Given the description of an element on the screen output the (x, y) to click on. 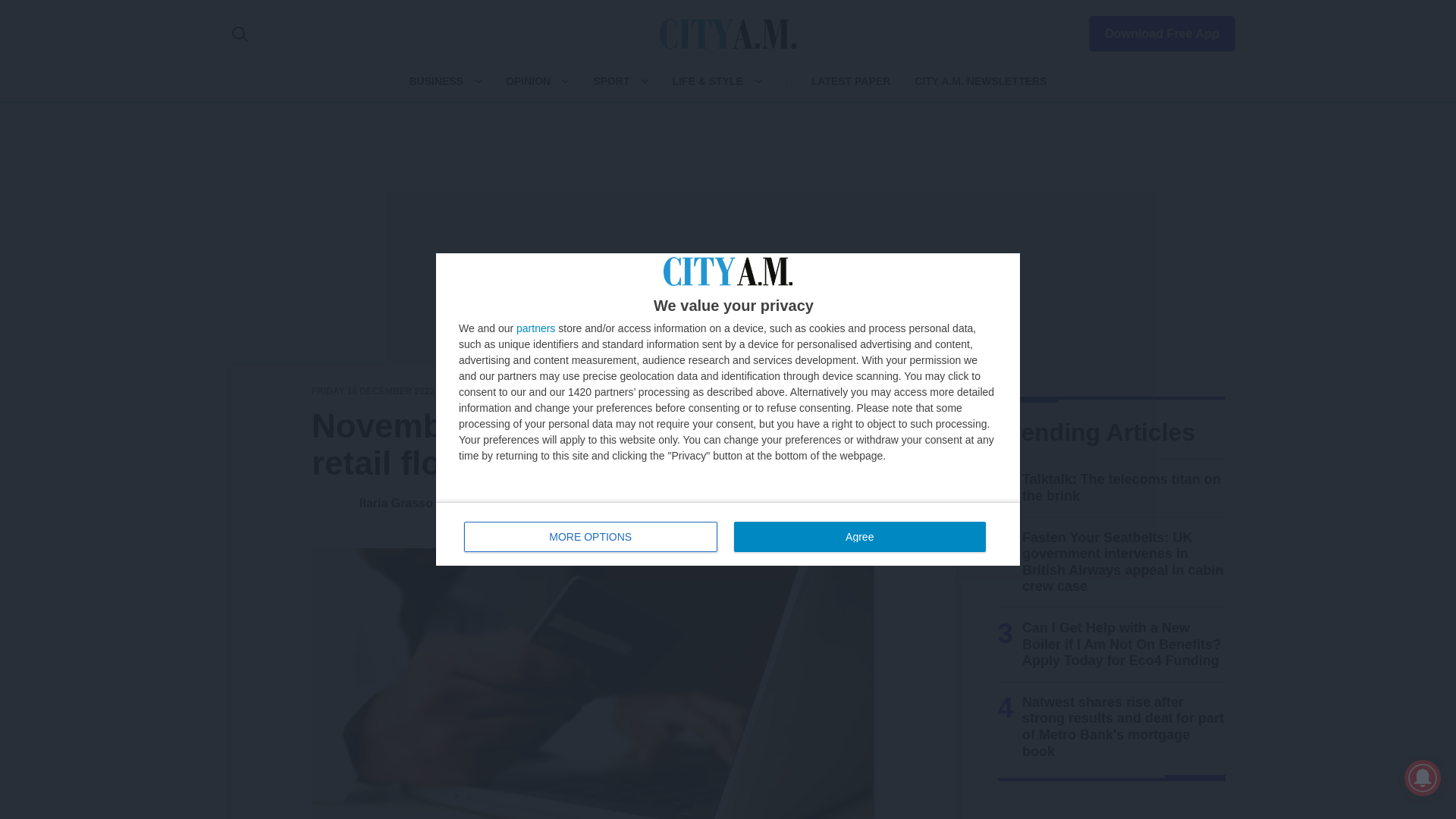
MORE OPTIONS (727, 533)
CityAM (590, 536)
Agree (727, 33)
BUSINESS (859, 536)
Download Free App (436, 80)
partners (1152, 30)
OPINION (535, 327)
